Given the description of an element on the screen output the (x, y) to click on. 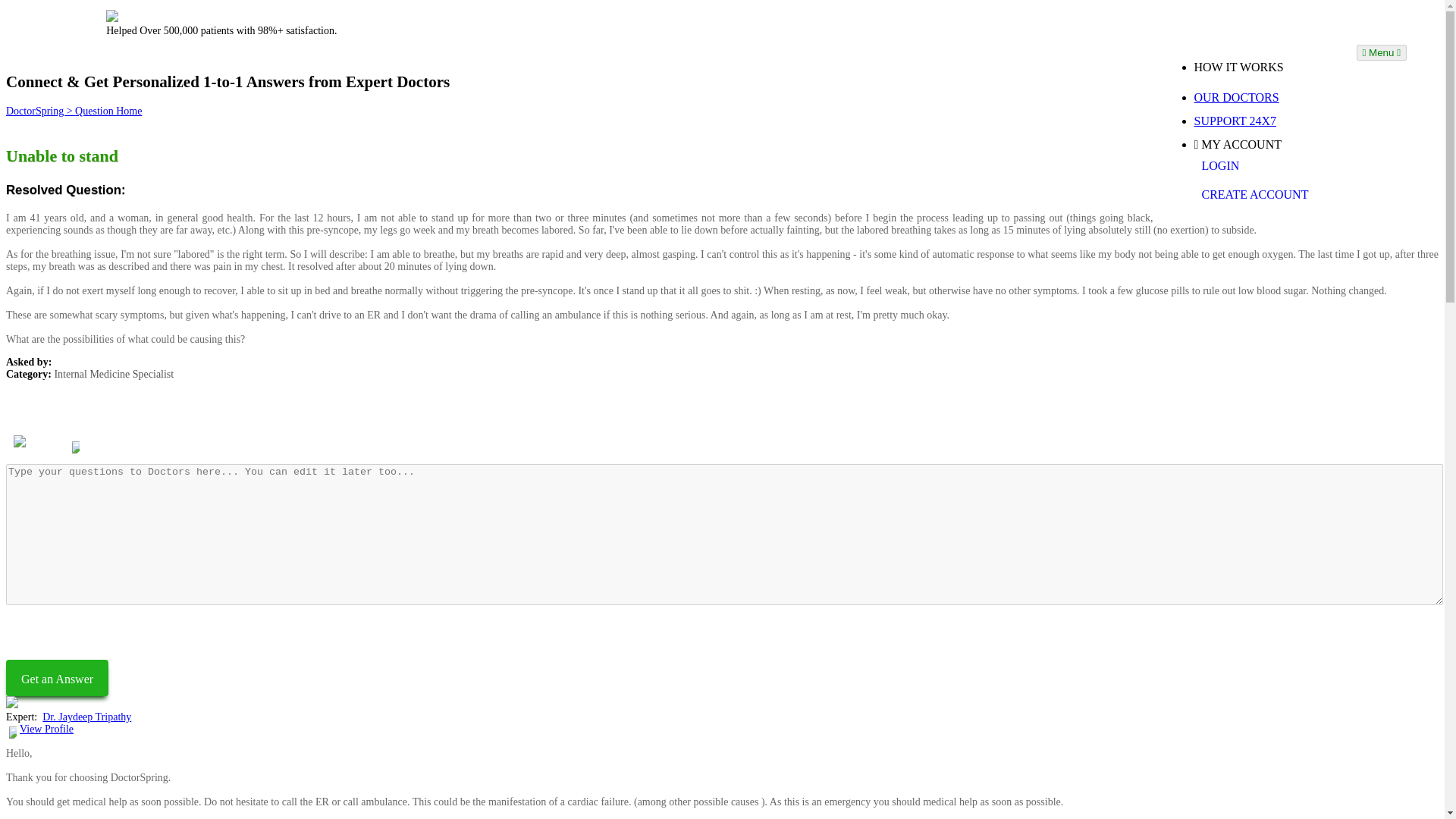
CREATE ACCOUNT (1269, 194)
Get an Answer (56, 678)
Dr. Jaydeep Tripathy (112, 419)
OUR DOCTORS (1269, 97)
 Menu (1380, 52)
Get an Answer (56, 678)
SUPPORT 24X7 (1269, 120)
HOW IT WORKS (1269, 67)
Question Home (108, 111)
LOGIN (1269, 165)
View Profile (47, 728)
 MY ACCOUNT (1269, 144)
Dr. Jaydeep Tripathy (86, 716)
View Profile (108, 443)
